Given the description of an element on the screen output the (x, y) to click on. 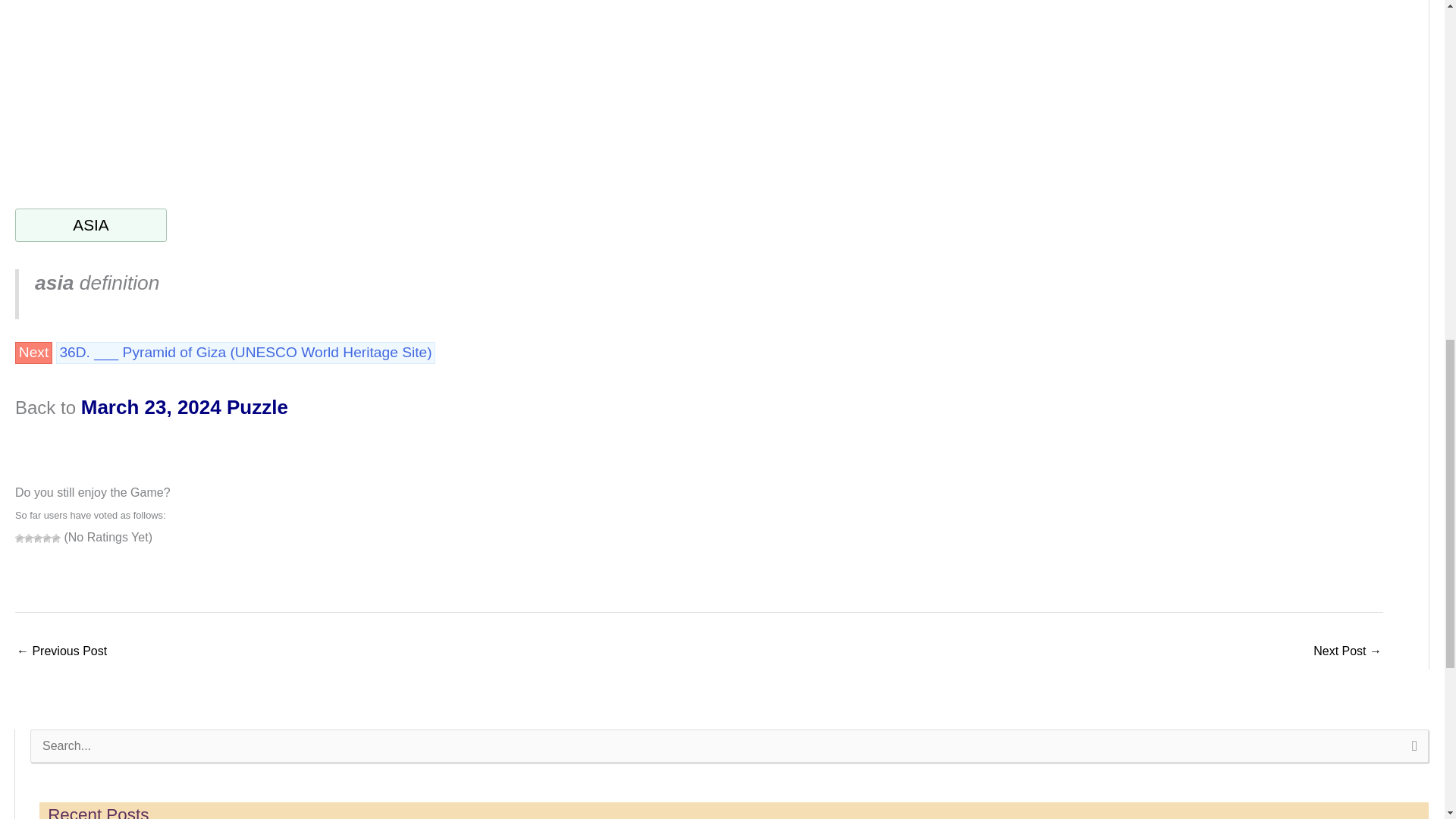
1 Star (19, 537)
5 Stars (55, 537)
3 Stars (37, 537)
Football's Buddy? Crossword Clue (61, 652)
2 Stars (28, 537)
4 Stars (46, 537)
March 23, 2024 Puzzle (184, 406)
